Given the description of an element on the screen output the (x, y) to click on. 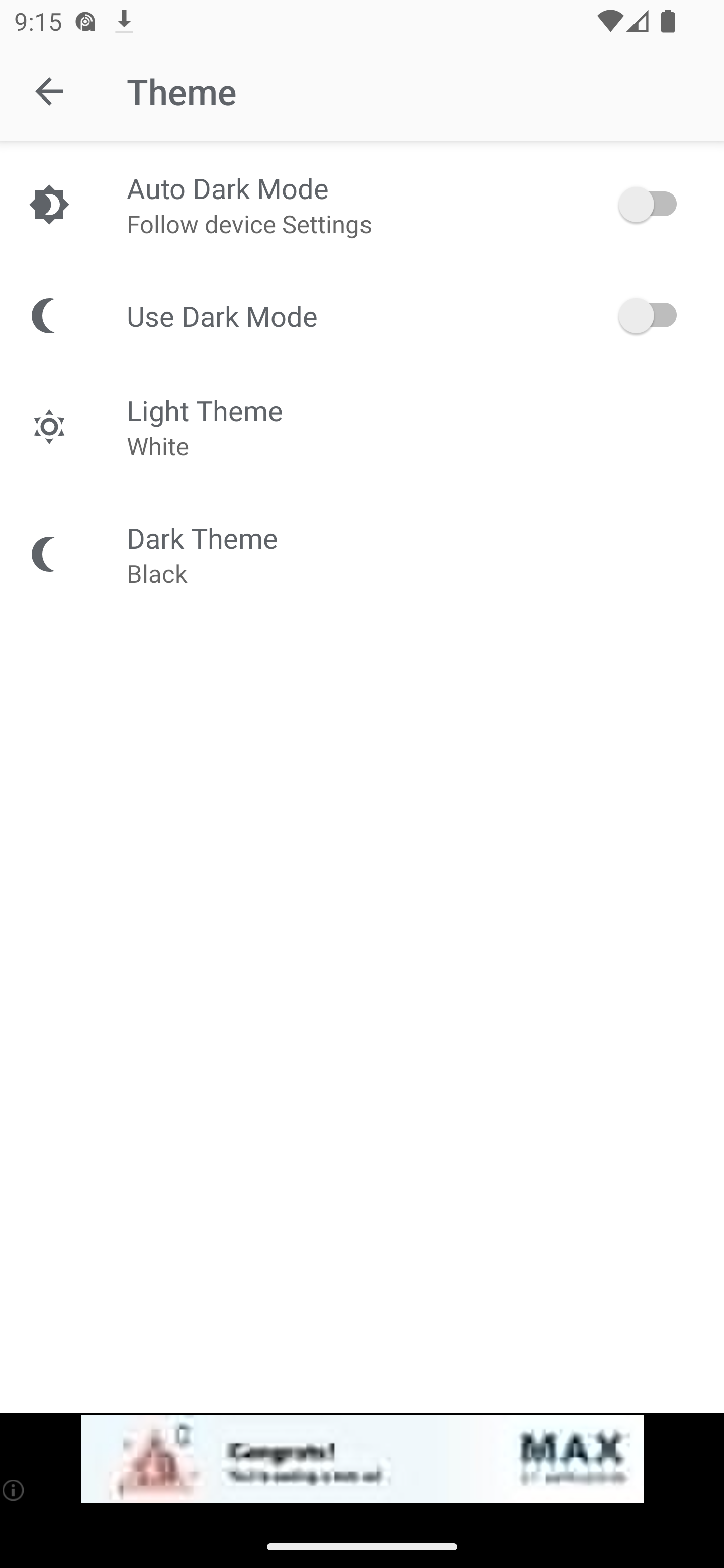
Navigate up (49, 91)
Auto Dark Mode Follow device Settings (362, 204)
Use Dark Mode (362, 315)
Light Theme White (362, 426)
Dark Theme Black (362, 553)
app-monetization (362, 1459)
(i) (14, 1489)
